Given the description of an element on the screen output the (x, y) to click on. 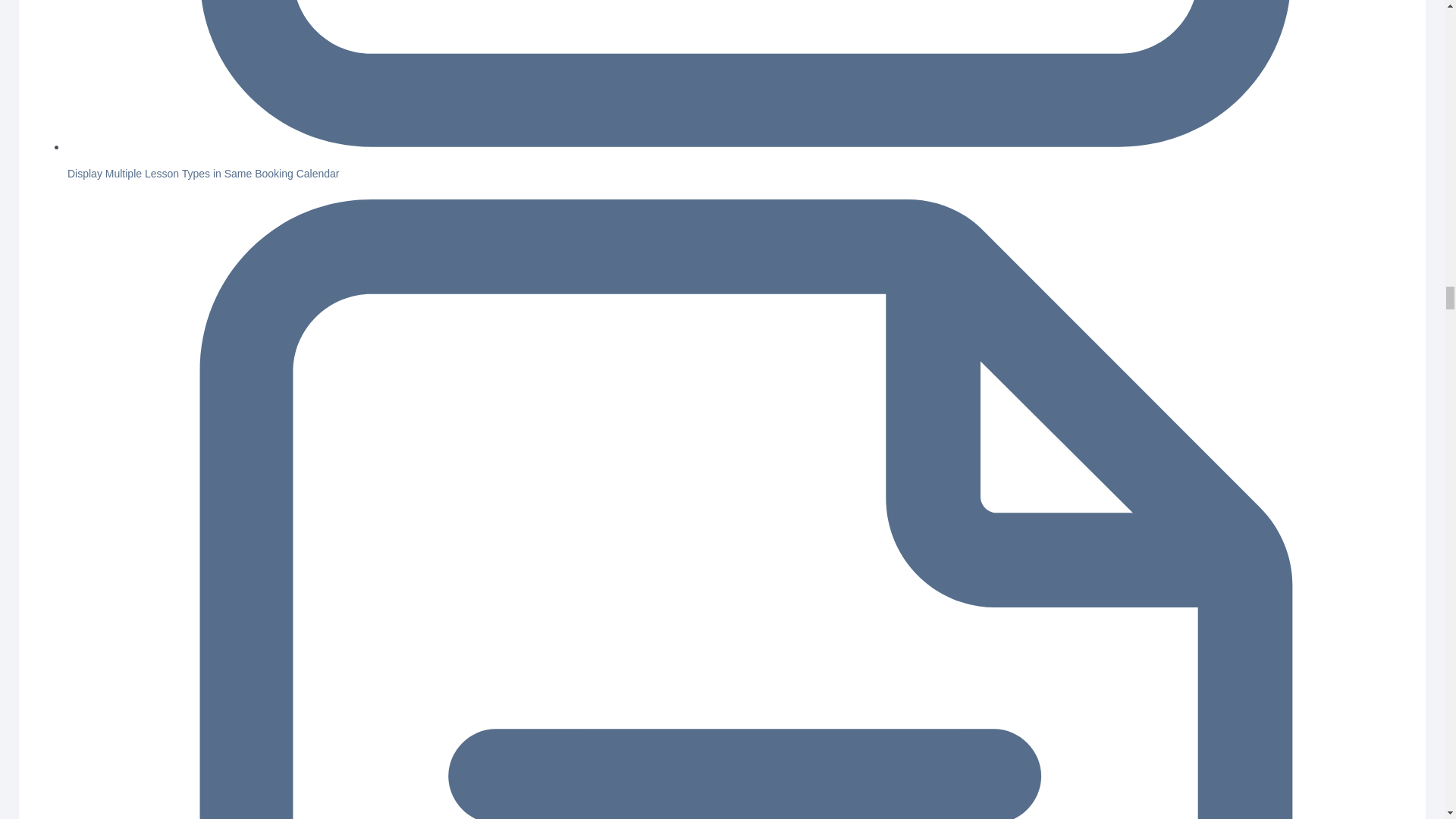
Display Multiple Lesson Types in Same Booking Calendar (202, 173)
